Given the description of an element on the screen output the (x, y) to click on. 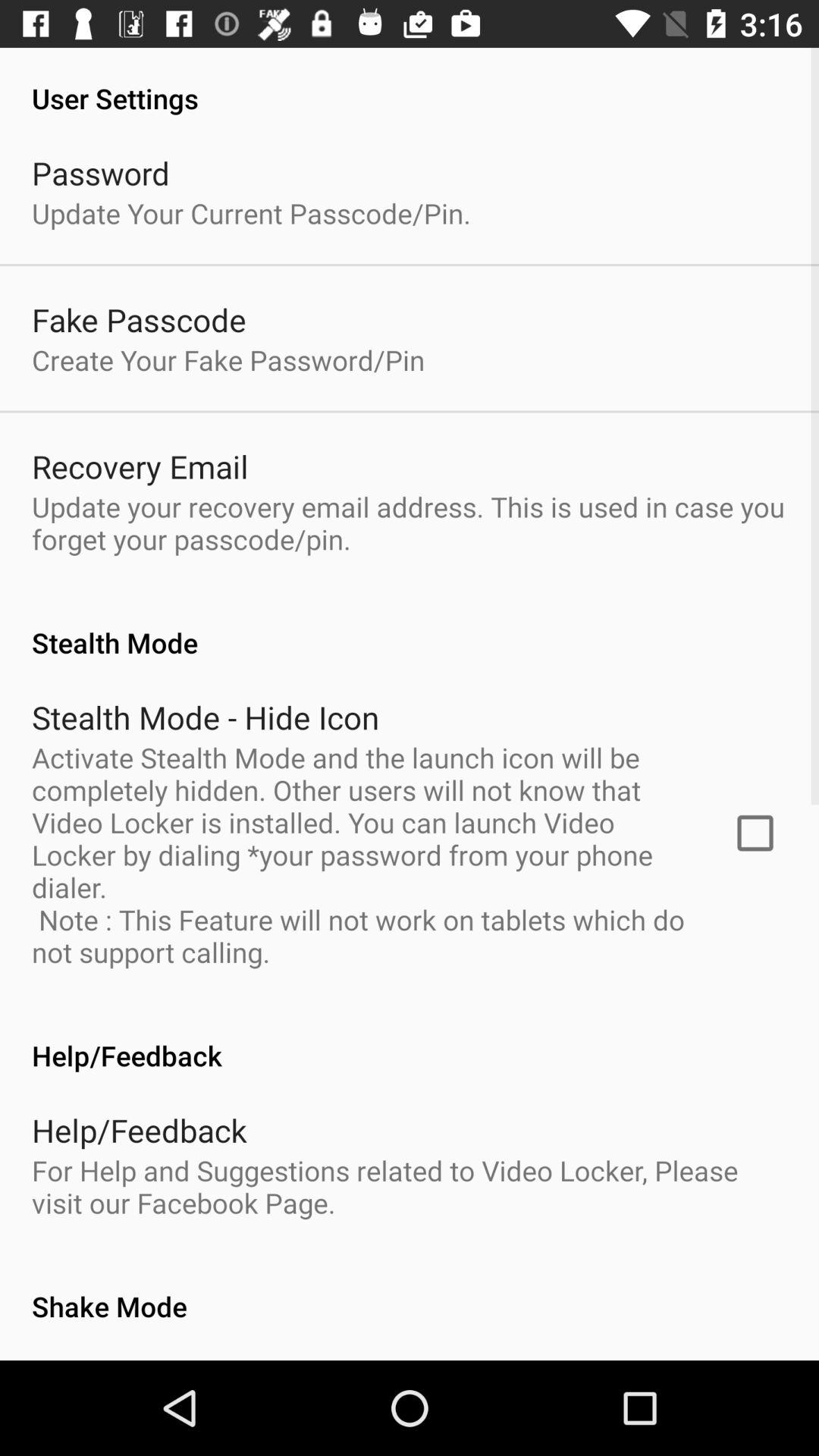
choose icon above recovery email item (227, 359)
